Given the description of an element on the screen output the (x, y) to click on. 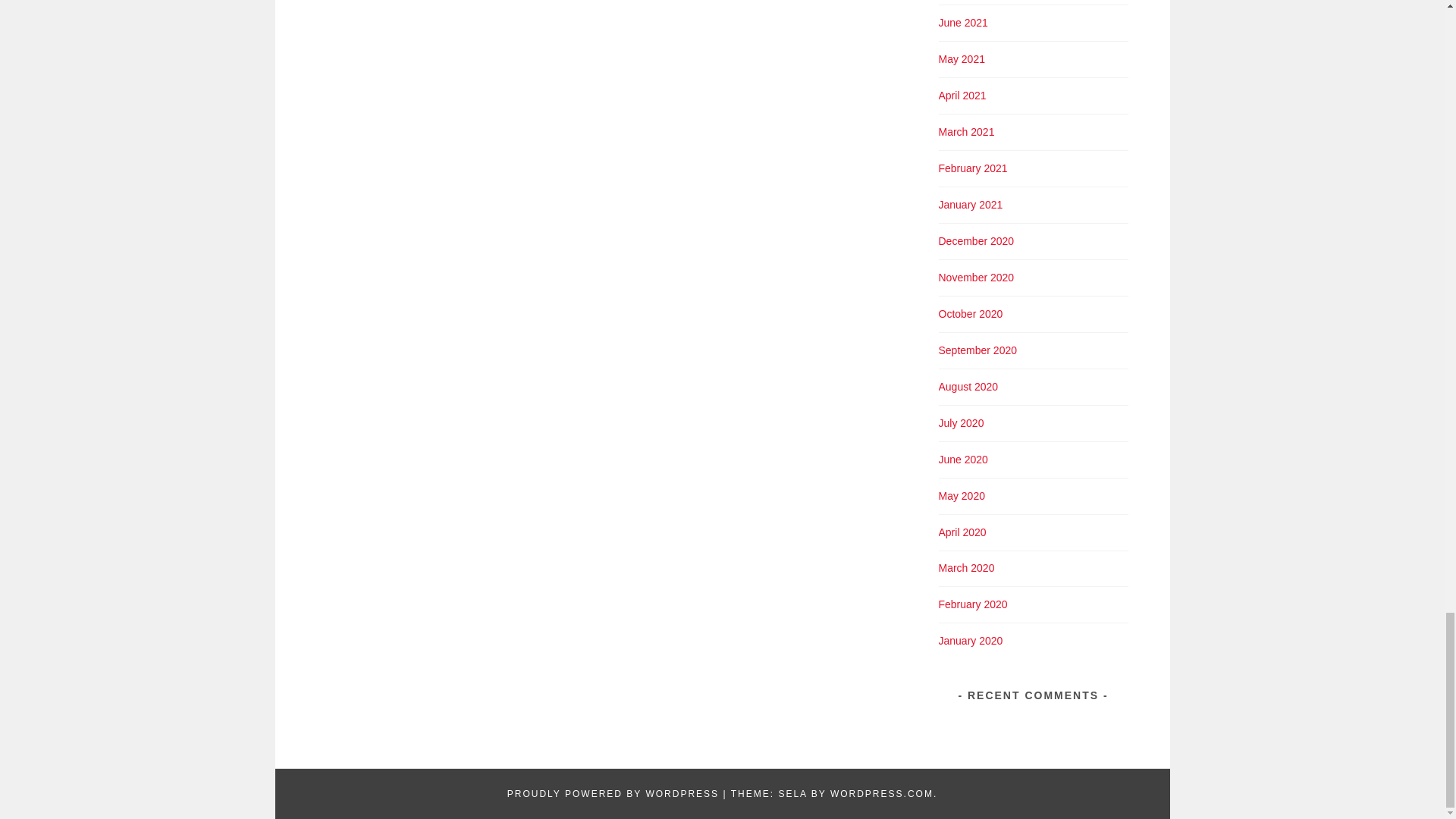
A Semantic Personal Publishing Platform (612, 793)
